Given the description of an element on the screen output the (x, y) to click on. 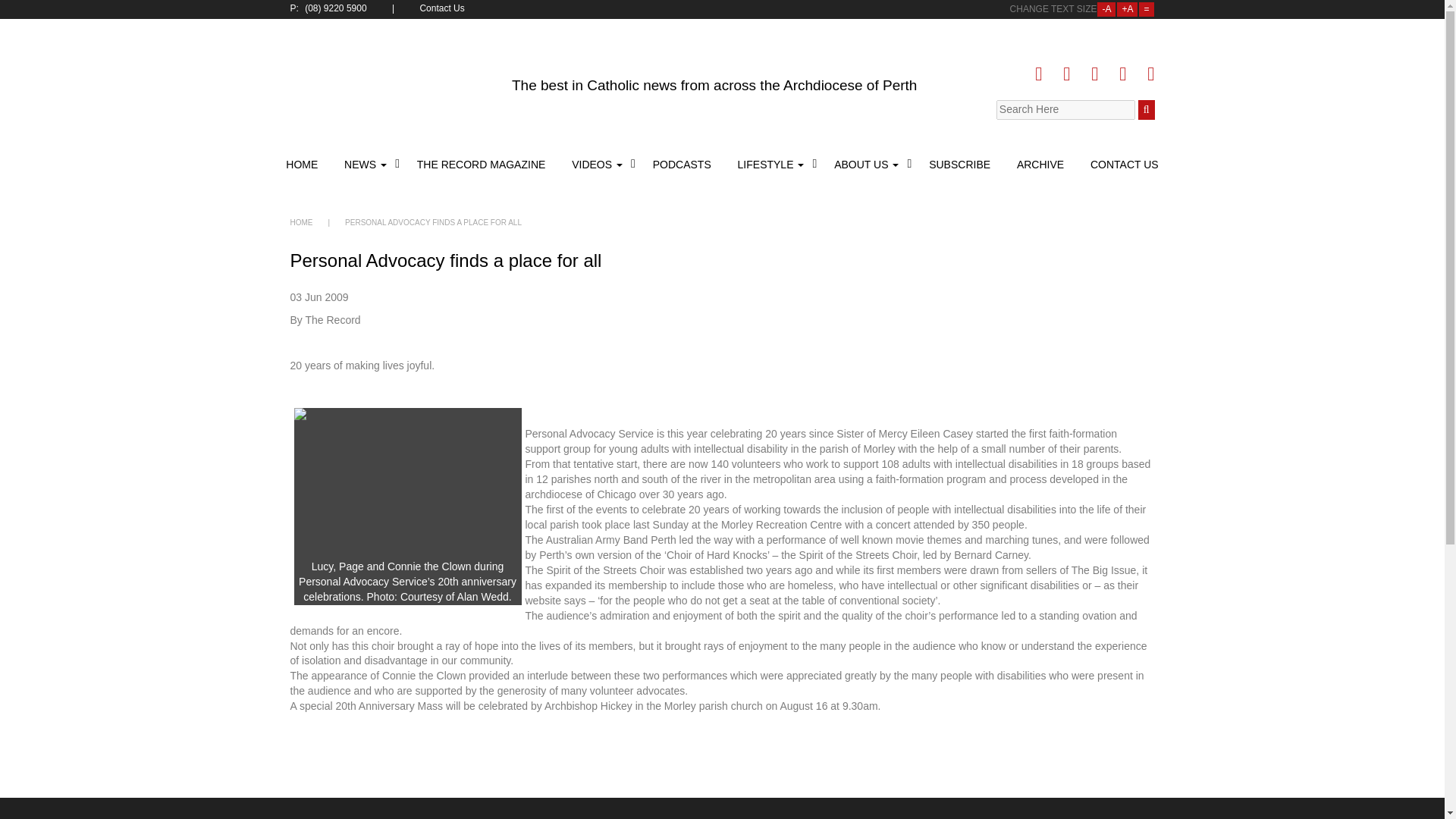
Go to The Record. (301, 222)
Our Linked In page (1093, 74)
THE RECORD MAGAZINE (481, 164)
SUBSCRIBE (959, 164)
VIDEOS (598, 164)
NEWS (367, 164)
LIFESTYLE (772, 164)
-A (1106, 9)
PODCASTS (681, 164)
ARCHIVE (1040, 164)
CONTACT US (1122, 164)
Contact Us (443, 8)
HOME (301, 222)
ABOUT US (867, 164)
HOME (303, 164)
